Given the description of an element on the screen output the (x, y) to click on. 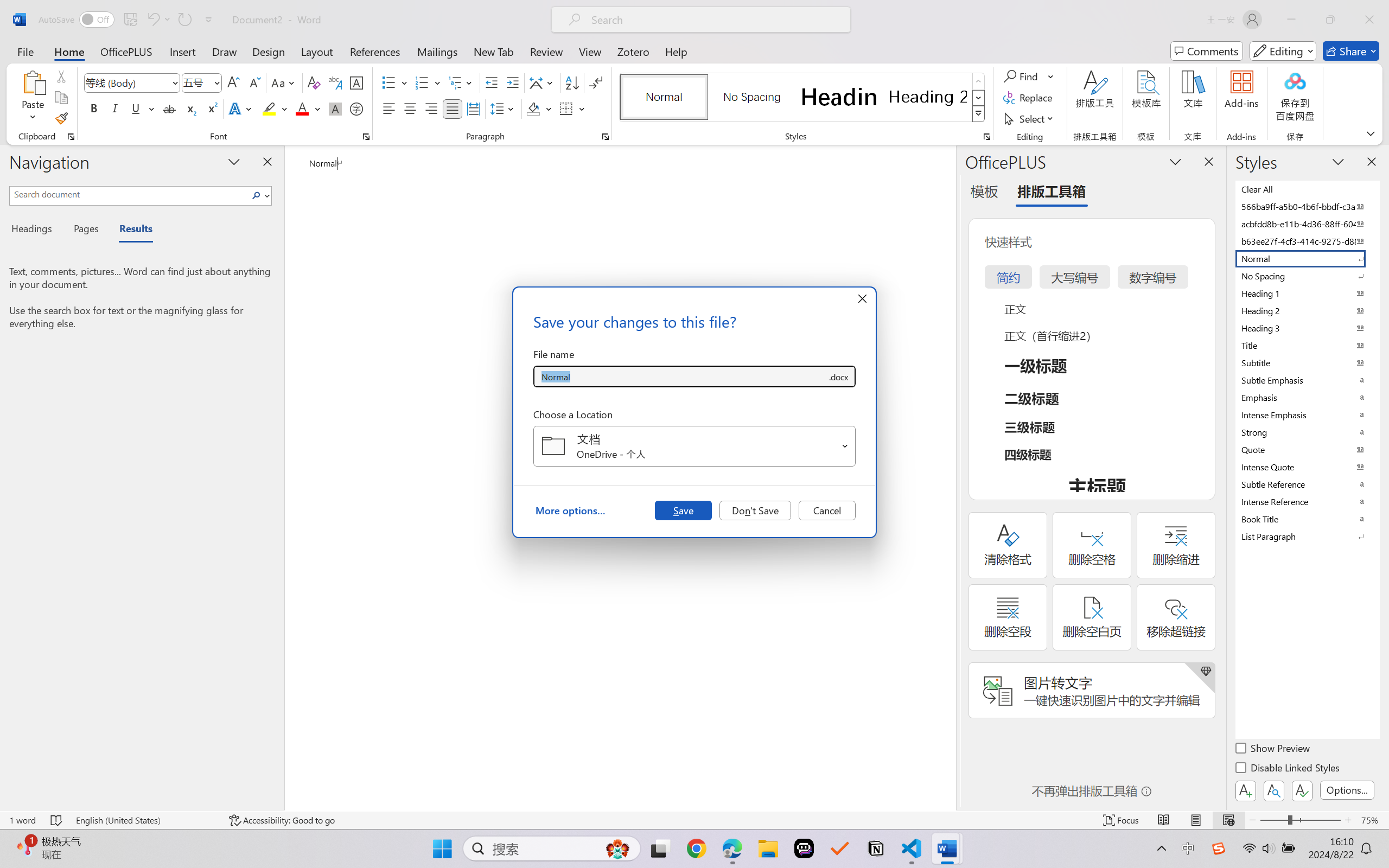
Class: MsoCommandBar (694, 819)
Layout (316, 51)
Intense Quote (1306, 466)
Zoom Out (1273, 819)
Spelling and Grammar Check No Errors (56, 819)
Search (259, 195)
Styles (978, 113)
